Given the description of an element on the screen output the (x, y) to click on. 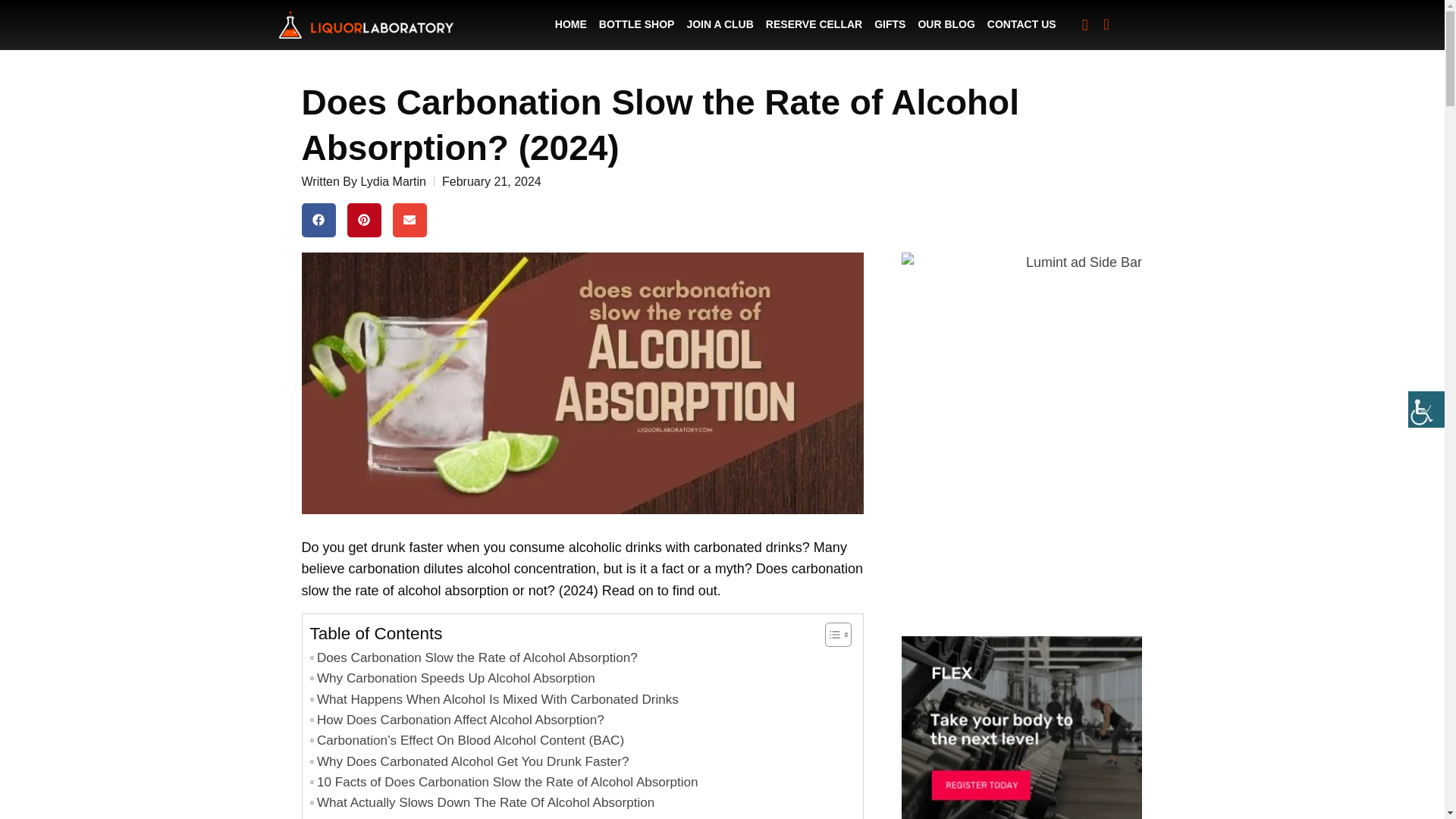
JOIN A CLUB (718, 24)
BOTTLE SHOP (636, 24)
CONTACT US (1021, 24)
OUR BLOG (945, 24)
GIFTS (889, 24)
